Given the description of an element on the screen output the (x, y) to click on. 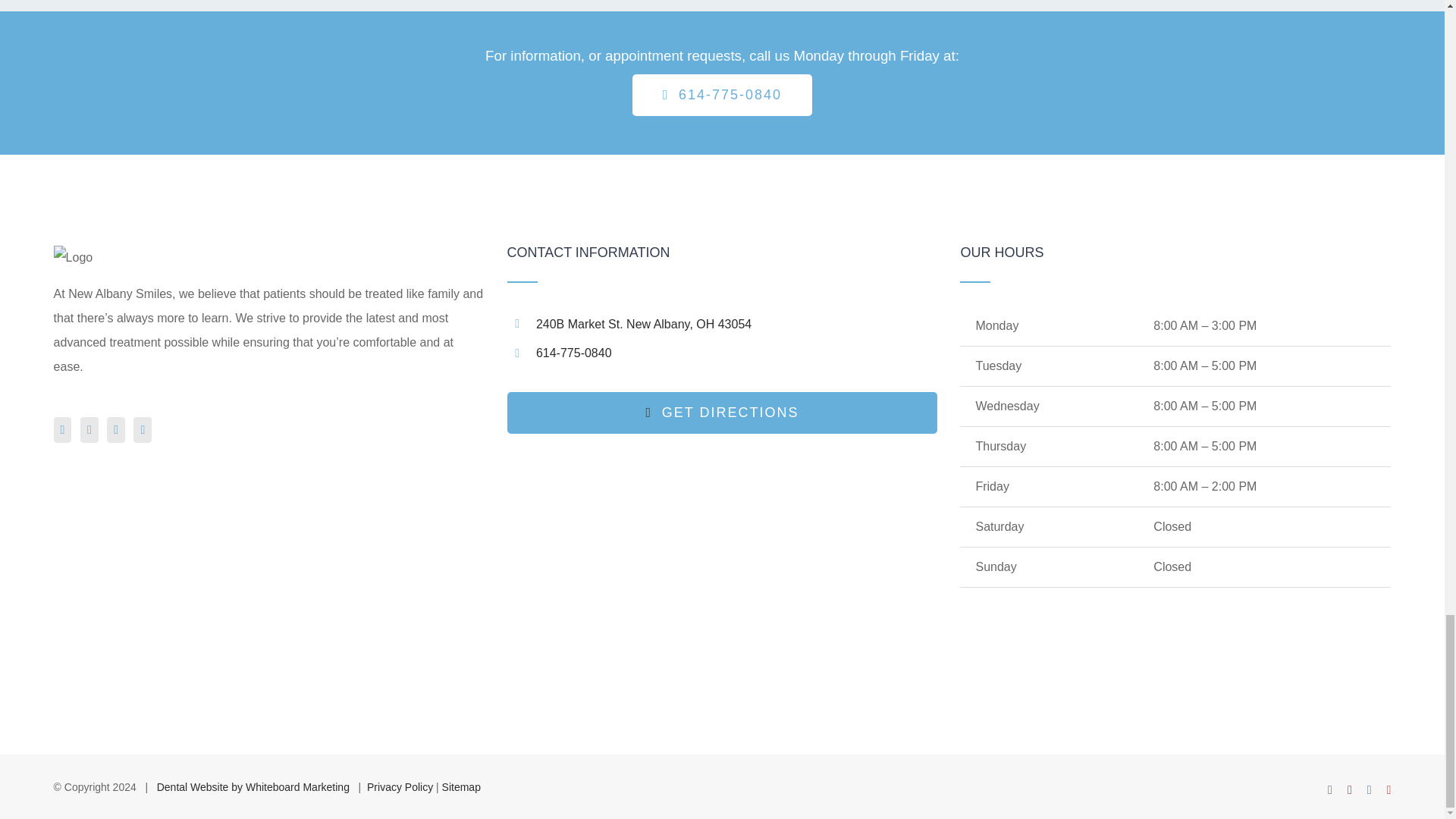
Instagram (1369, 789)
YouTube (1389, 789)
Facebook (1329, 789)
Instagram (115, 429)
Pinterest (1350, 789)
Pinterest (89, 429)
Facebook (62, 429)
YouTube (142, 429)
